Given the description of an element on the screen output the (x, y) to click on. 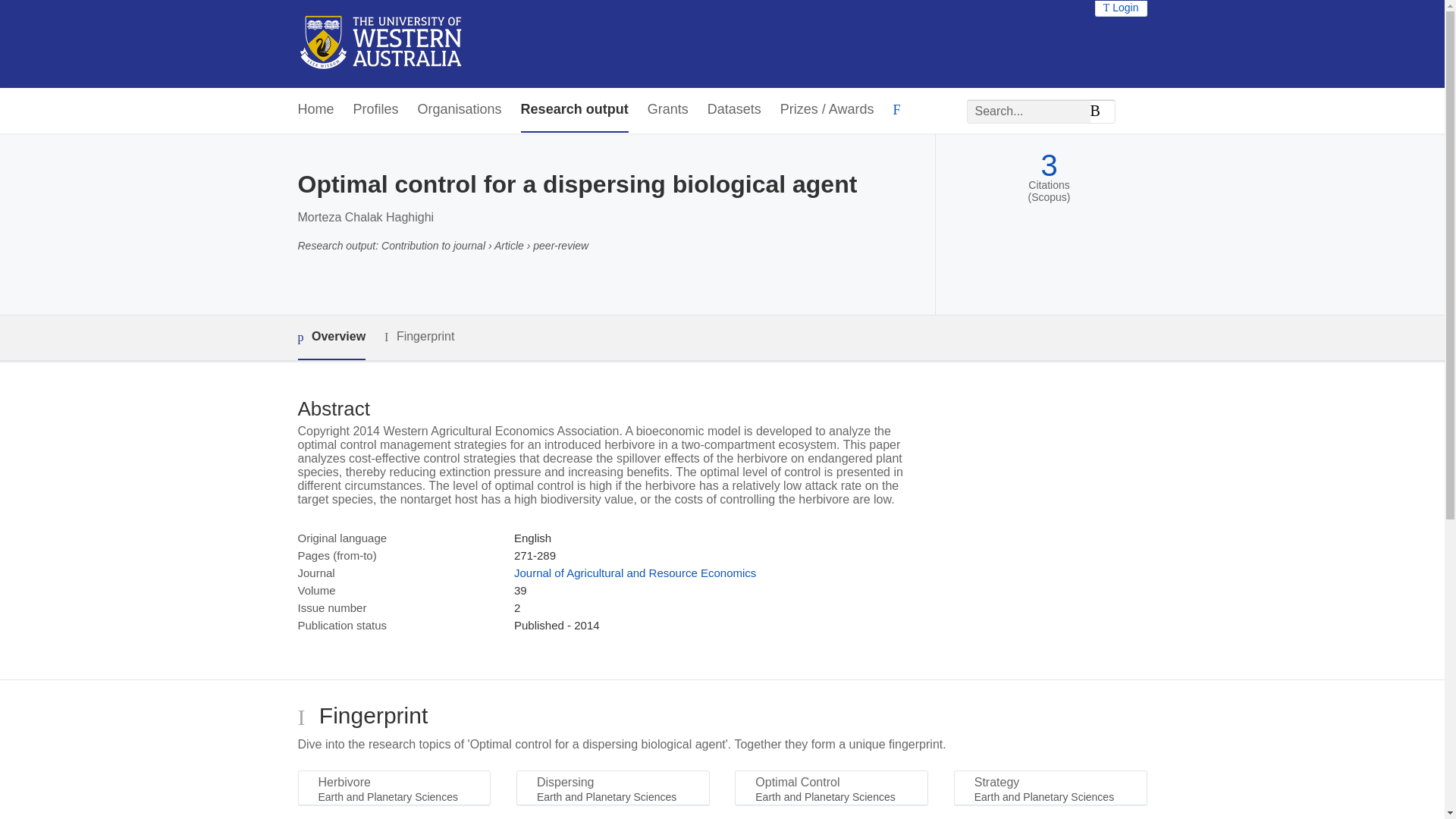
Overview (331, 337)
the UWA Profiles and Research Repository Home (380, 43)
Grants (667, 109)
Organisations (459, 109)
Journal of Agricultural and Resource Economics (634, 572)
Profiles (375, 109)
Research output (574, 109)
Datasets (734, 109)
Login (1121, 7)
